Given the description of an element on the screen output the (x, y) to click on. 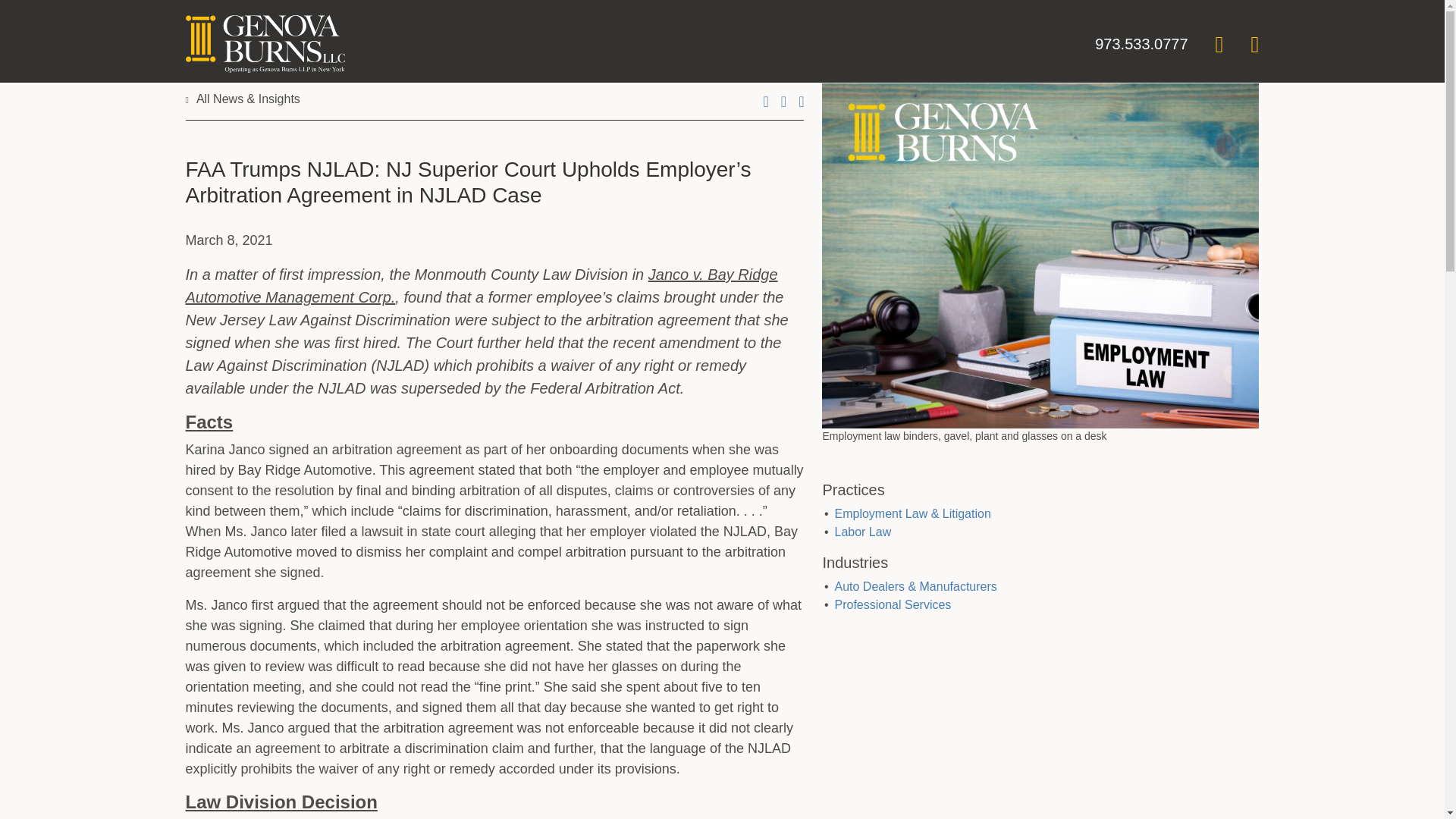
Print Page (765, 101)
973.533.0777 (1141, 43)
open search (1219, 44)
Email (783, 101)
share (800, 101)
